Given the description of an element on the screen output the (x, y) to click on. 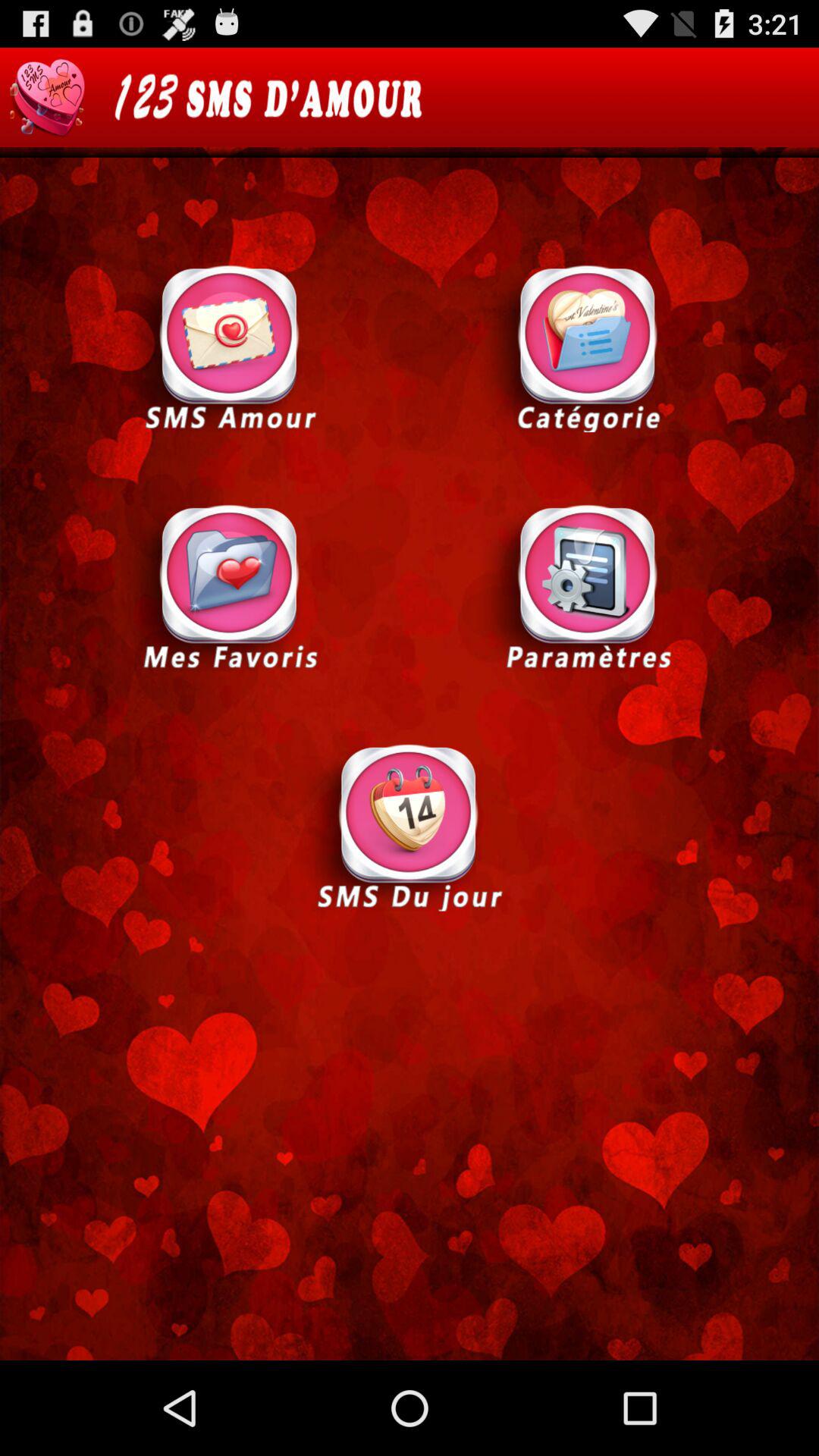
send sms (408, 826)
